Given the description of an element on the screen output the (x, y) to click on. 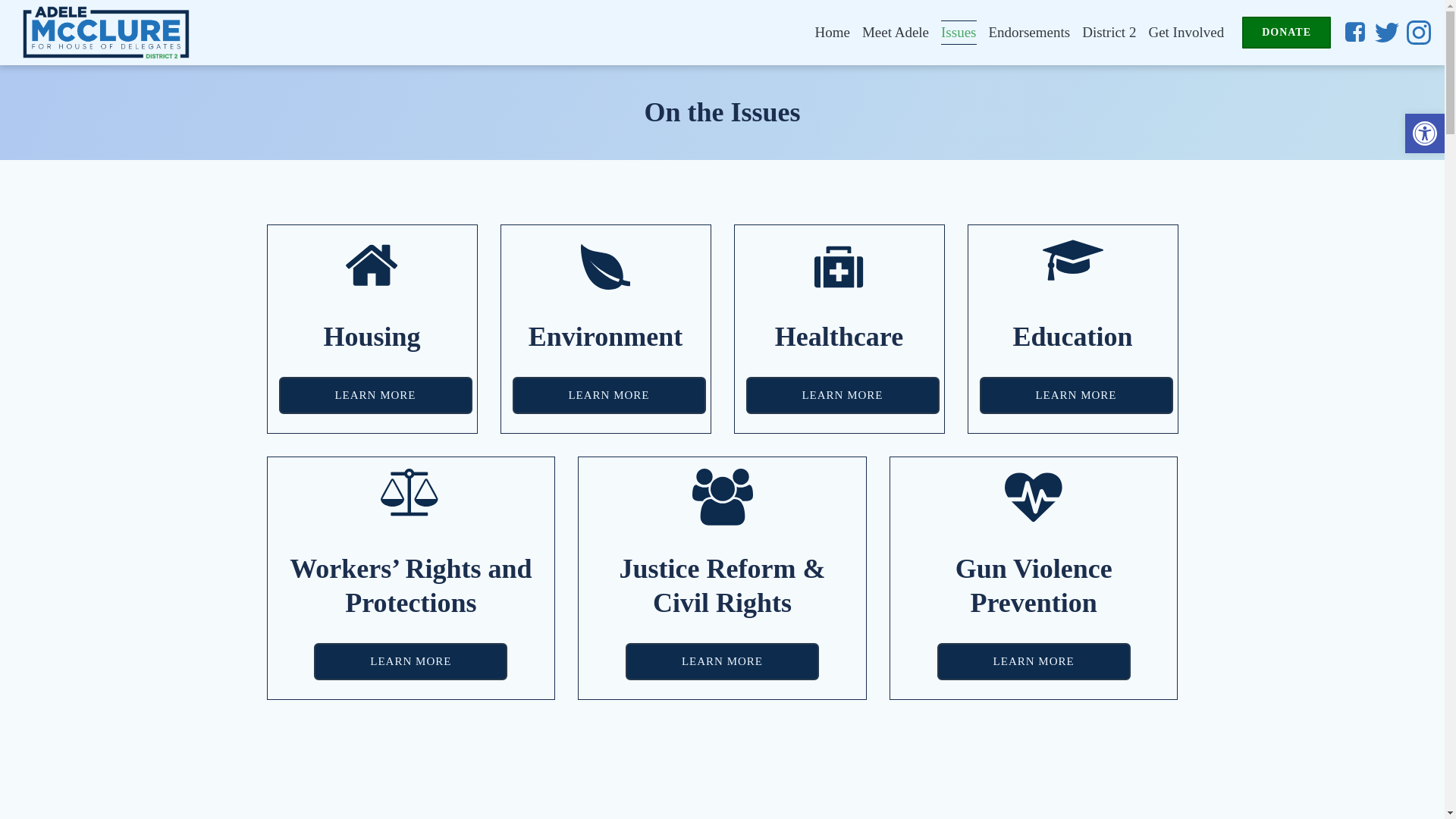
DONATE (1285, 32)
LEARN MORE (609, 395)
LEARN MORE (1076, 395)
Issues (957, 33)
Home (830, 33)
Endorsements (1029, 33)
Get Involved (1186, 33)
LEARN MORE (842, 395)
Accessibility Tools (1424, 133)
District 2 (1108, 33)
